Given the description of an element on the screen output the (x, y) to click on. 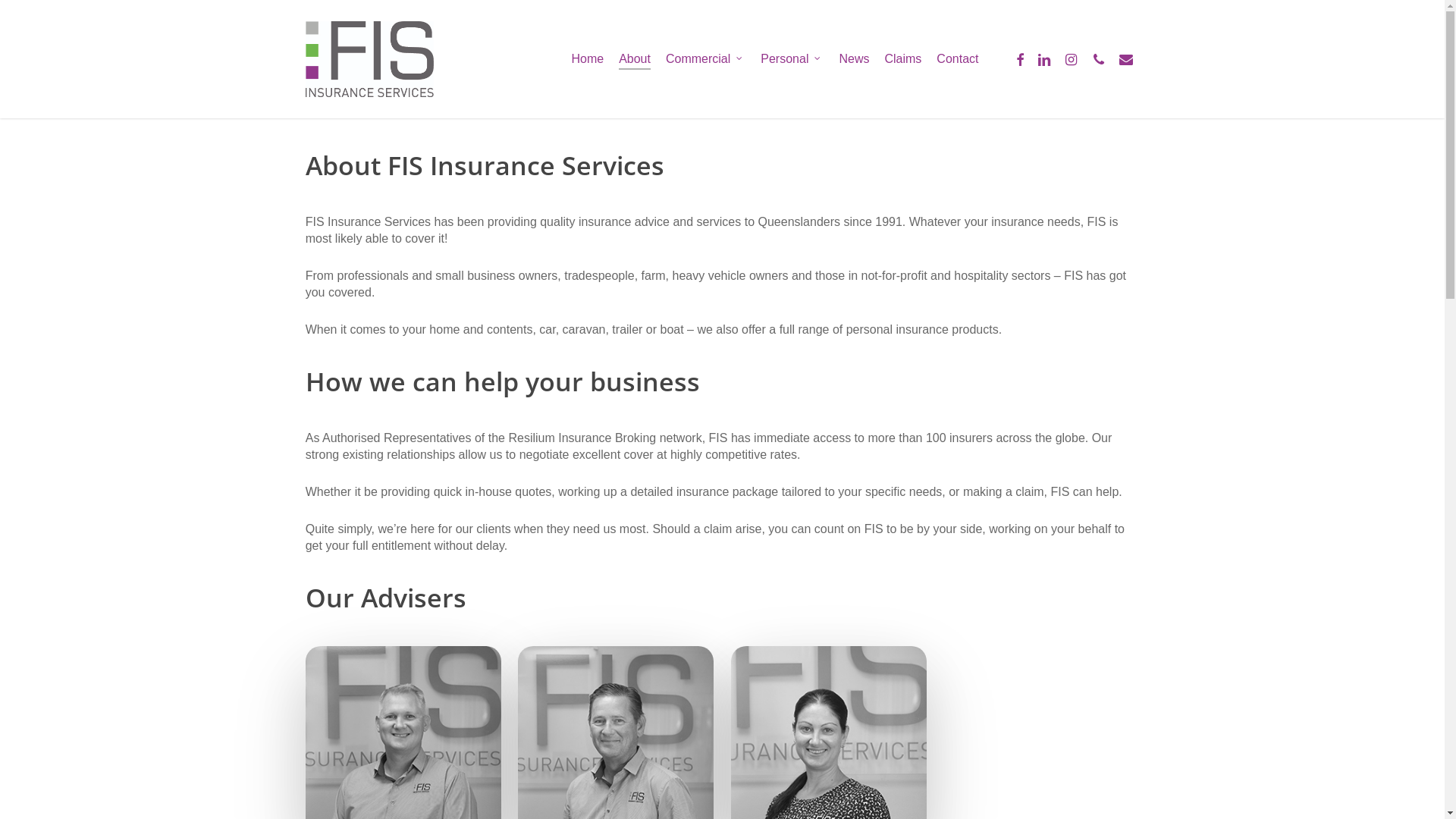
facebook Element type: text (1018, 58)
About Element type: text (634, 59)
Claims Element type: text (902, 59)
News Element type: text (853, 59)
Personal Element type: text (791, 59)
Contact Element type: text (957, 59)
email Element type: text (1125, 58)
phone Element type: text (1097, 58)
Commercial Element type: text (705, 59)
instagram Element type: text (1070, 58)
Home Element type: text (587, 59)
linkedin Element type: text (1043, 58)
